Given the description of an element on the screen output the (x, y) to click on. 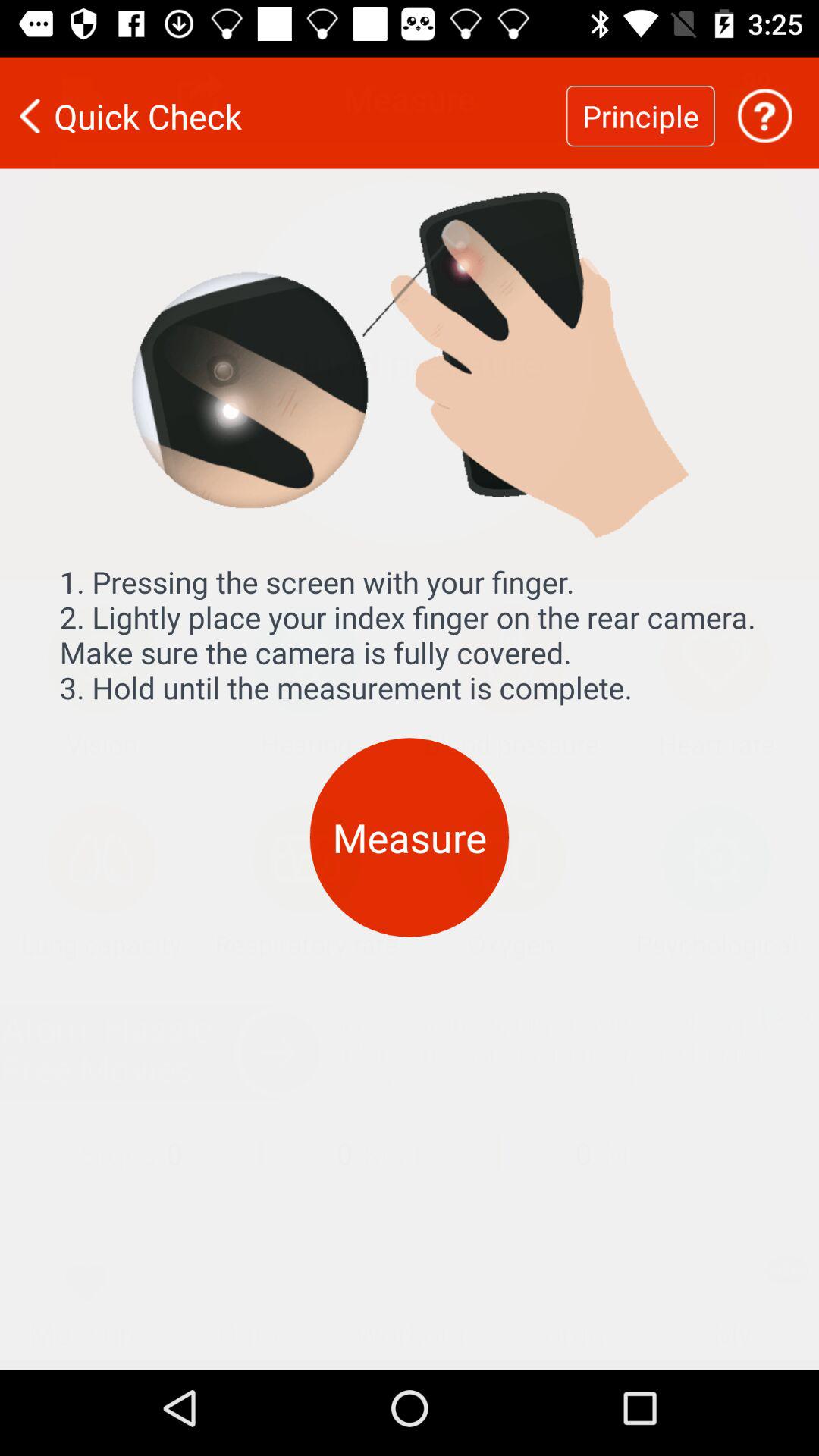
turn off measure icon (409, 827)
